Given the description of an element on the screen output the (x, y) to click on. 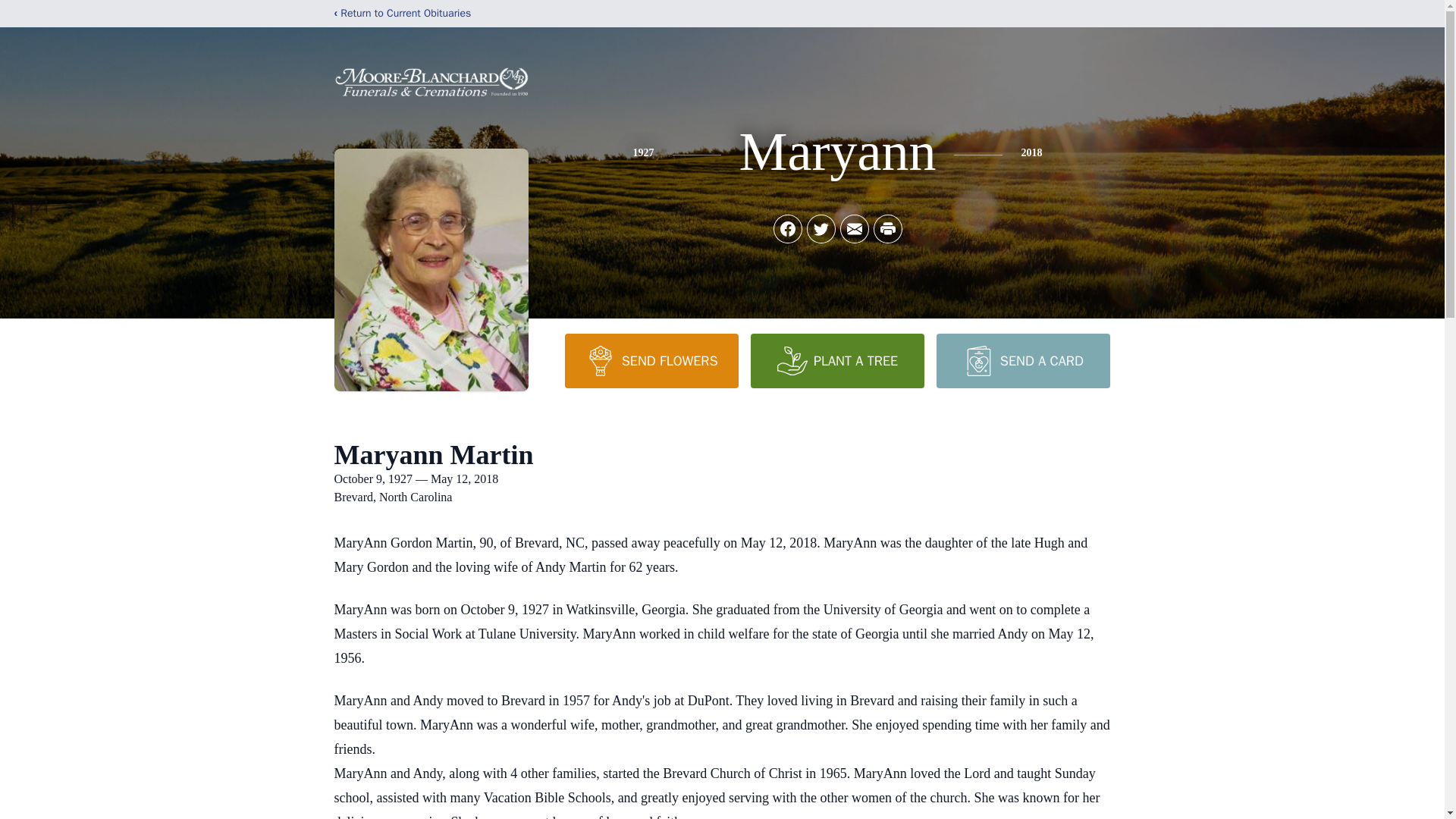
SEND A CARD (1022, 360)
PLANT A TREE (837, 360)
SEND FLOWERS (651, 360)
